Given the description of an element on the screen output the (x, y) to click on. 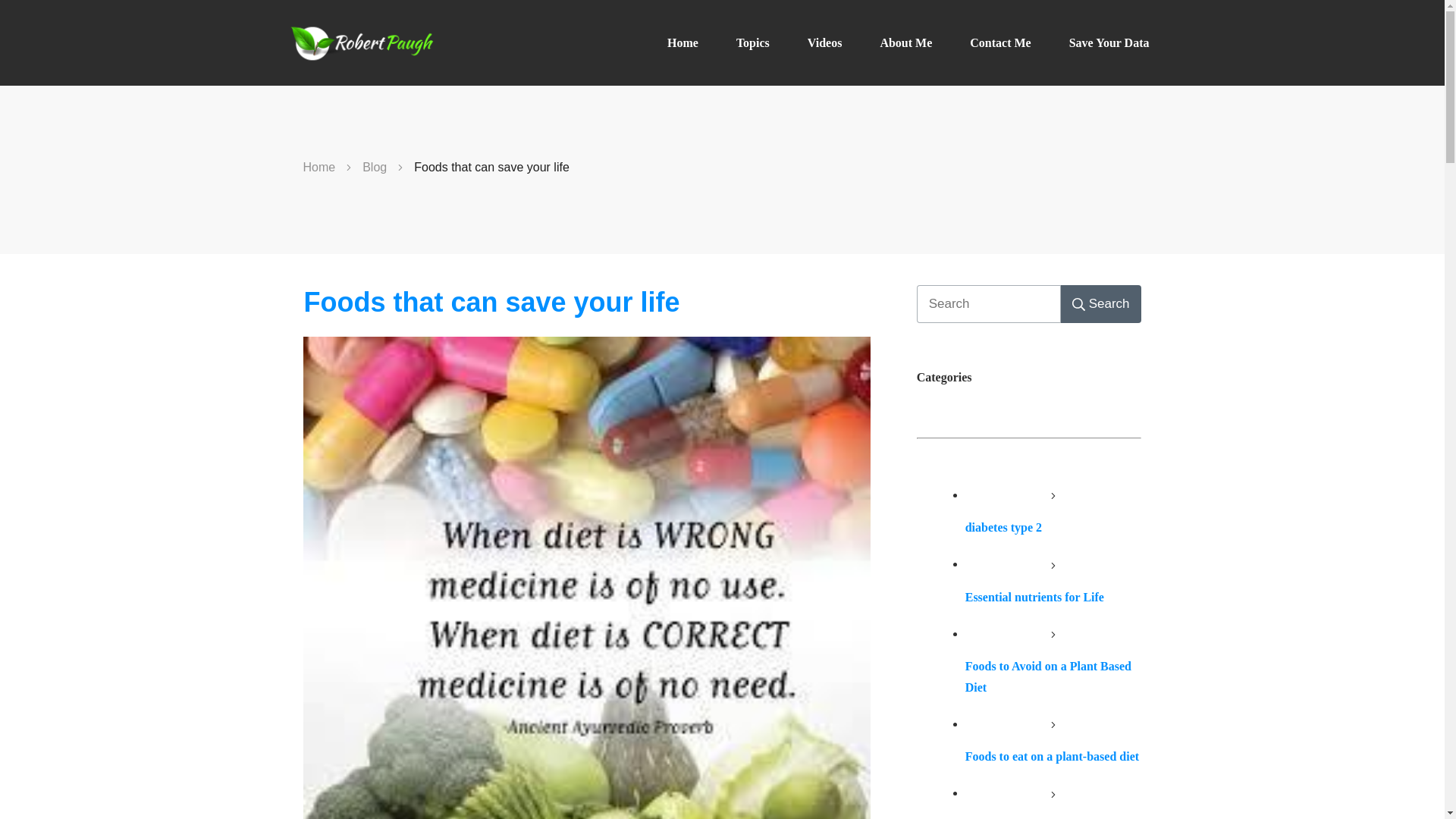
Foods to Avoid on a Plant Based Diet (1048, 676)
Search (1101, 303)
diabetes type 2 (1003, 526)
Home (319, 167)
Contact Me (999, 43)
Topics (753, 43)
Essential nutrients for Life (1034, 596)
Foods that can save your life (490, 301)
About Me (905, 43)
